Given the description of an element on the screen output the (x, y) to click on. 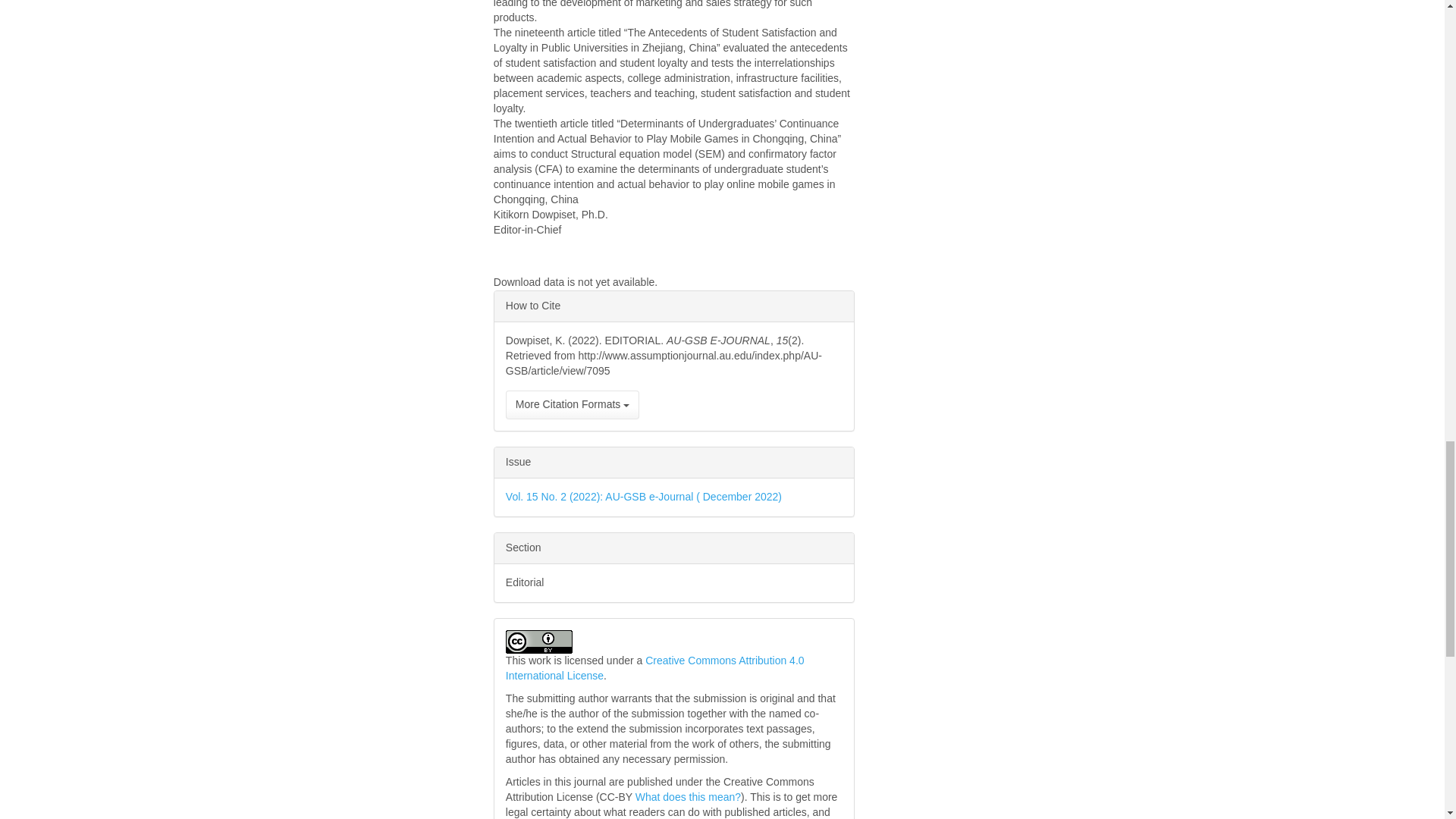
What does this mean? (687, 797)
Creative Commons Attribution 4.0 International License (655, 667)
More Citation Formats (572, 404)
